Given the description of an element on the screen output the (x, y) to click on. 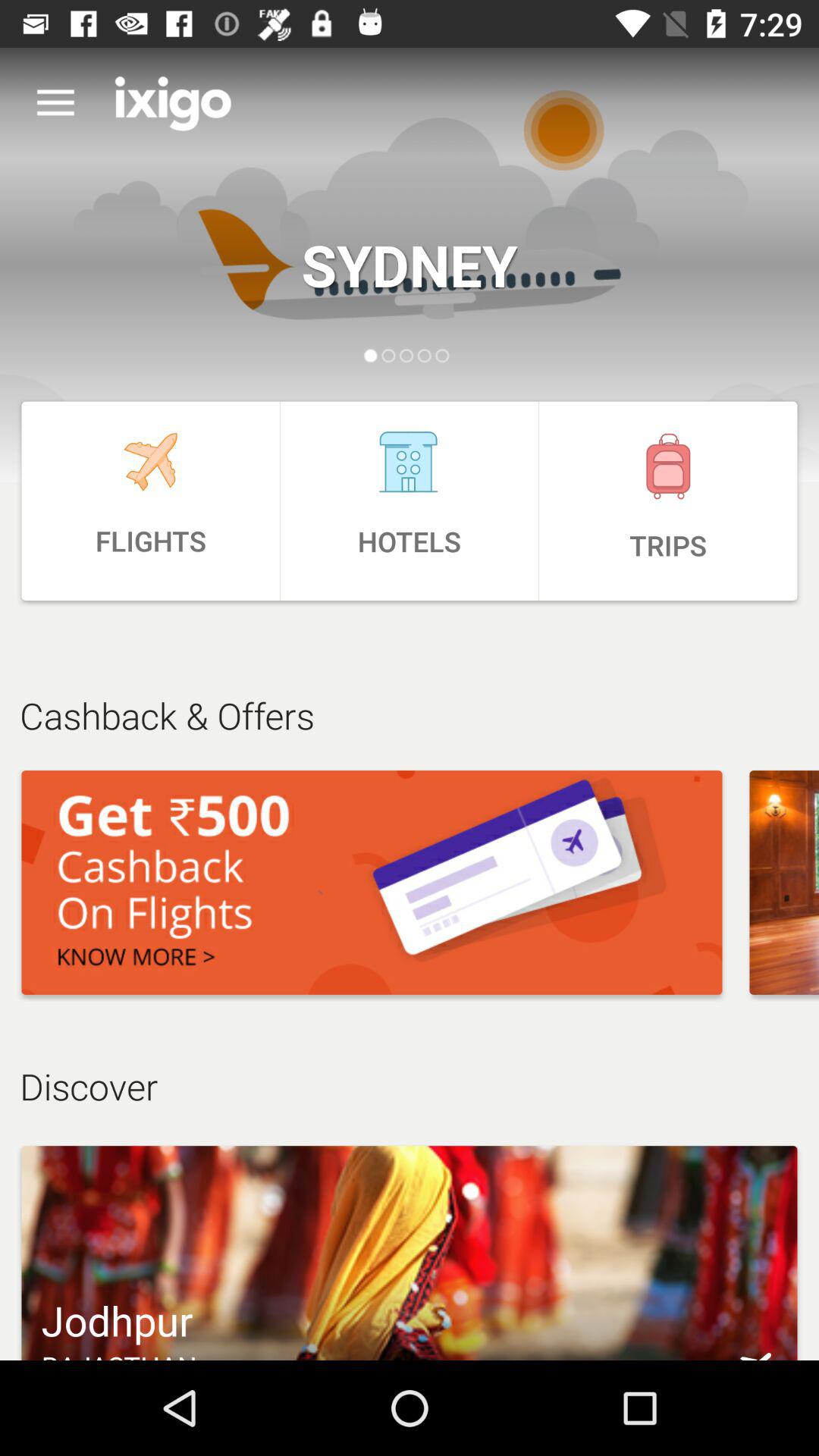
turn off the flights on the left (150, 500)
